Given the description of an element on the screen output the (x, y) to click on. 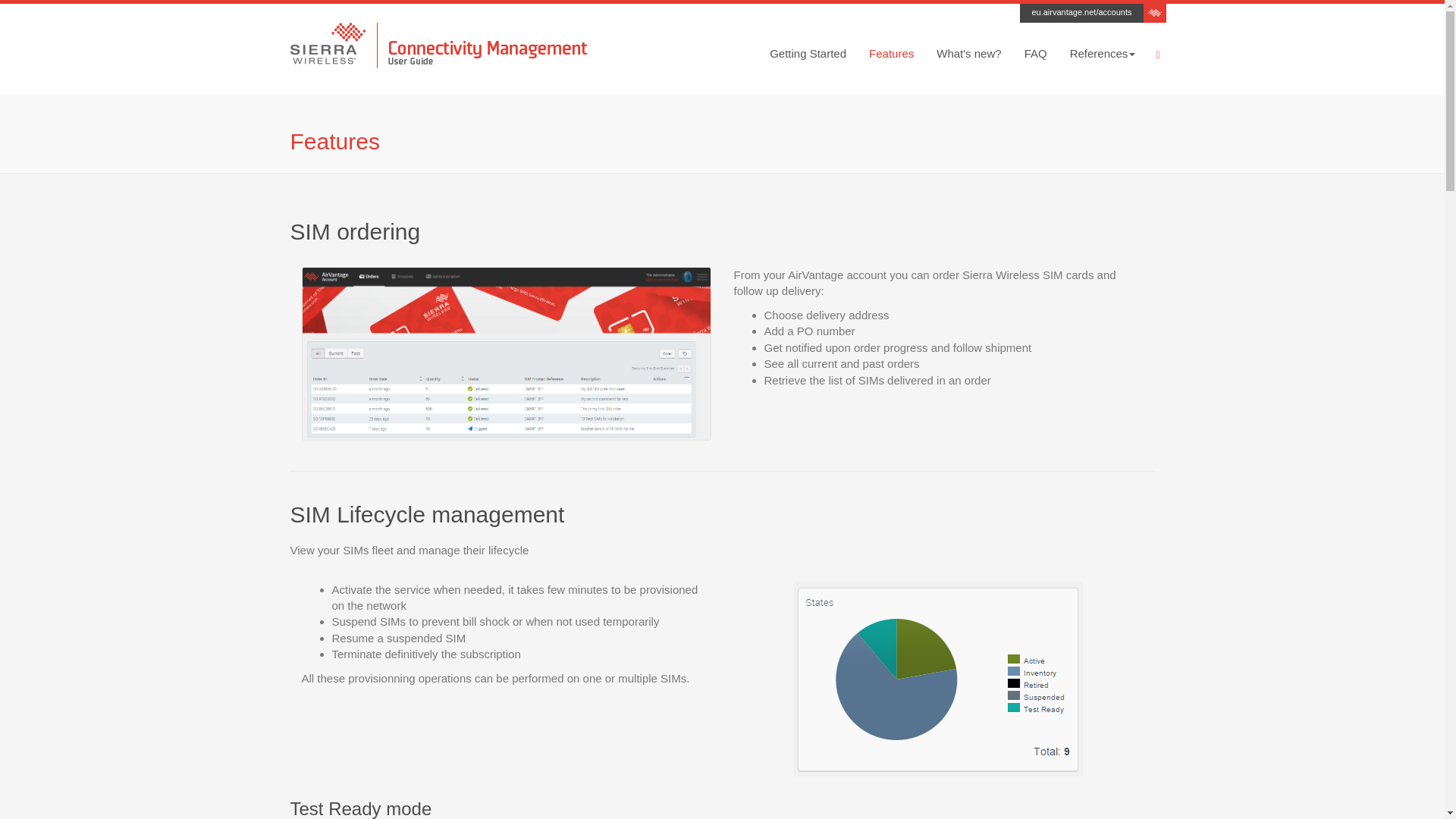
FAQ (1035, 53)
Getting Started (807, 53)
sierrawireless.com (1154, 11)
References (1102, 53)
Log in your Connectivity Management account (1081, 11)
What's new? (967, 53)
Features (890, 53)
